Given the description of an element on the screen output the (x, y) to click on. 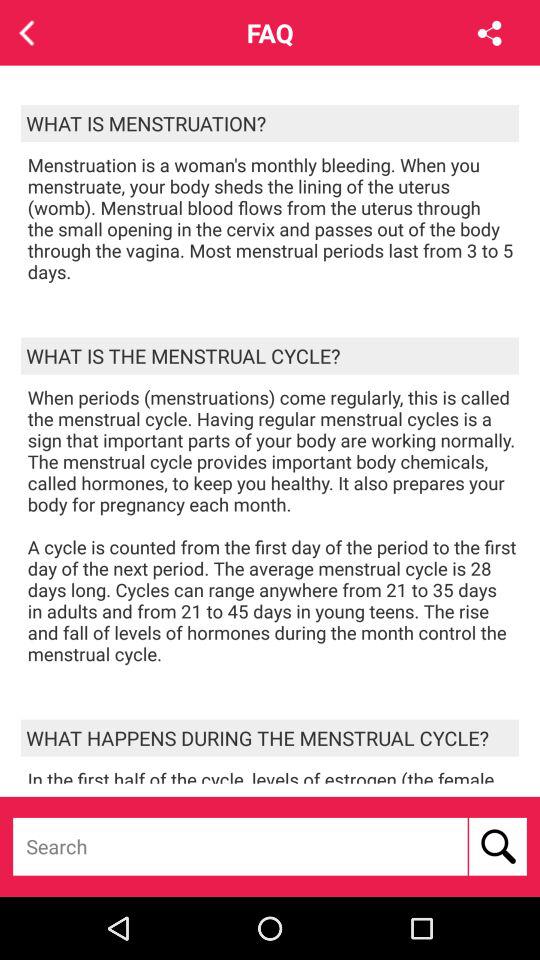
jump until the what happens during app (270, 737)
